Given the description of an element on the screen output the (x, y) to click on. 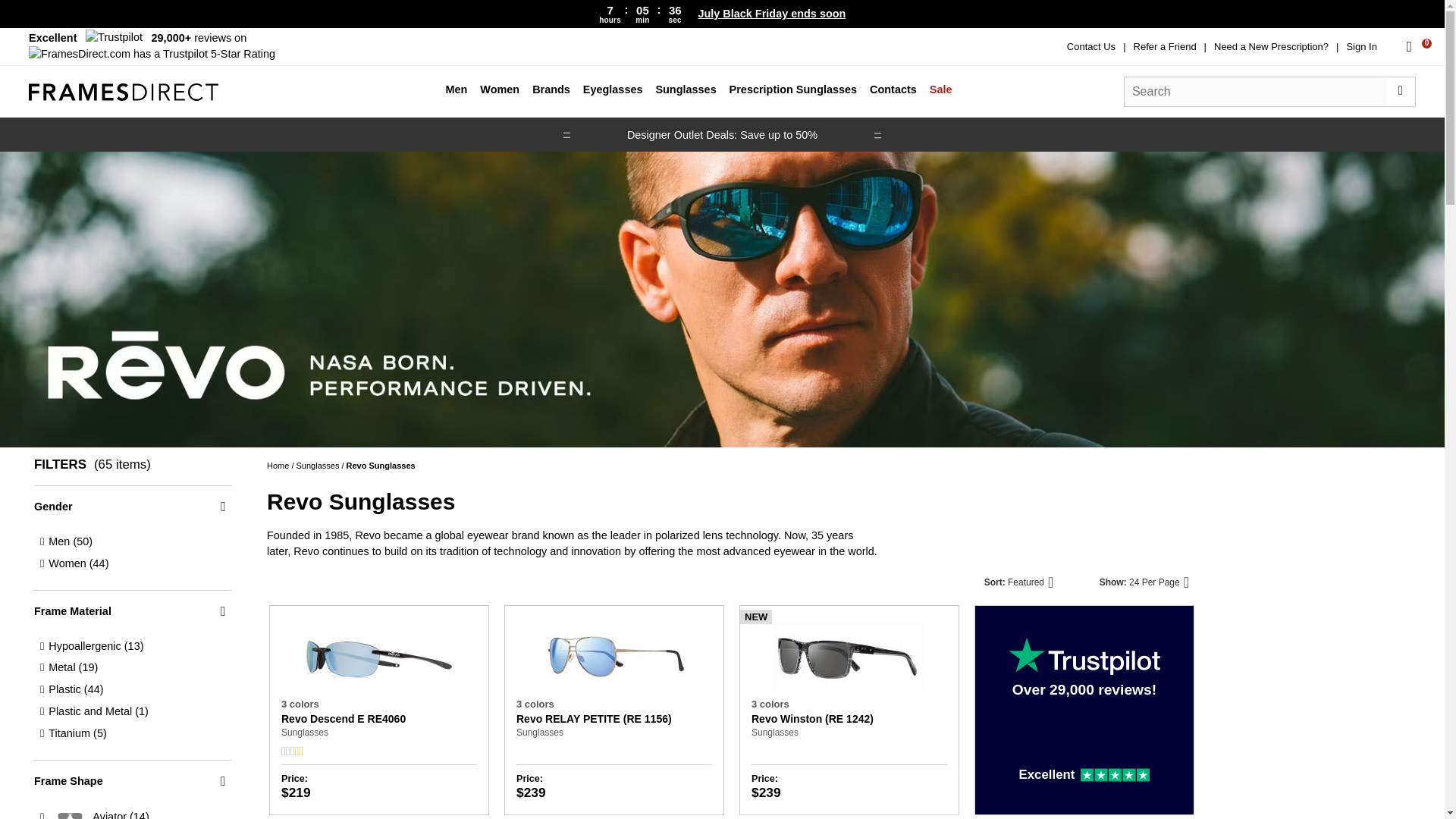
Find an eyecare professional to get a new prescription (1270, 46)
July Black Friday ends soon (771, 13)
Need a New Prescription? (1270, 46)
Sign In (1360, 46)
Contact Us (1091, 46)
Refer a Friend (1165, 46)
